Given the description of an element on the screen output the (x, y) to click on. 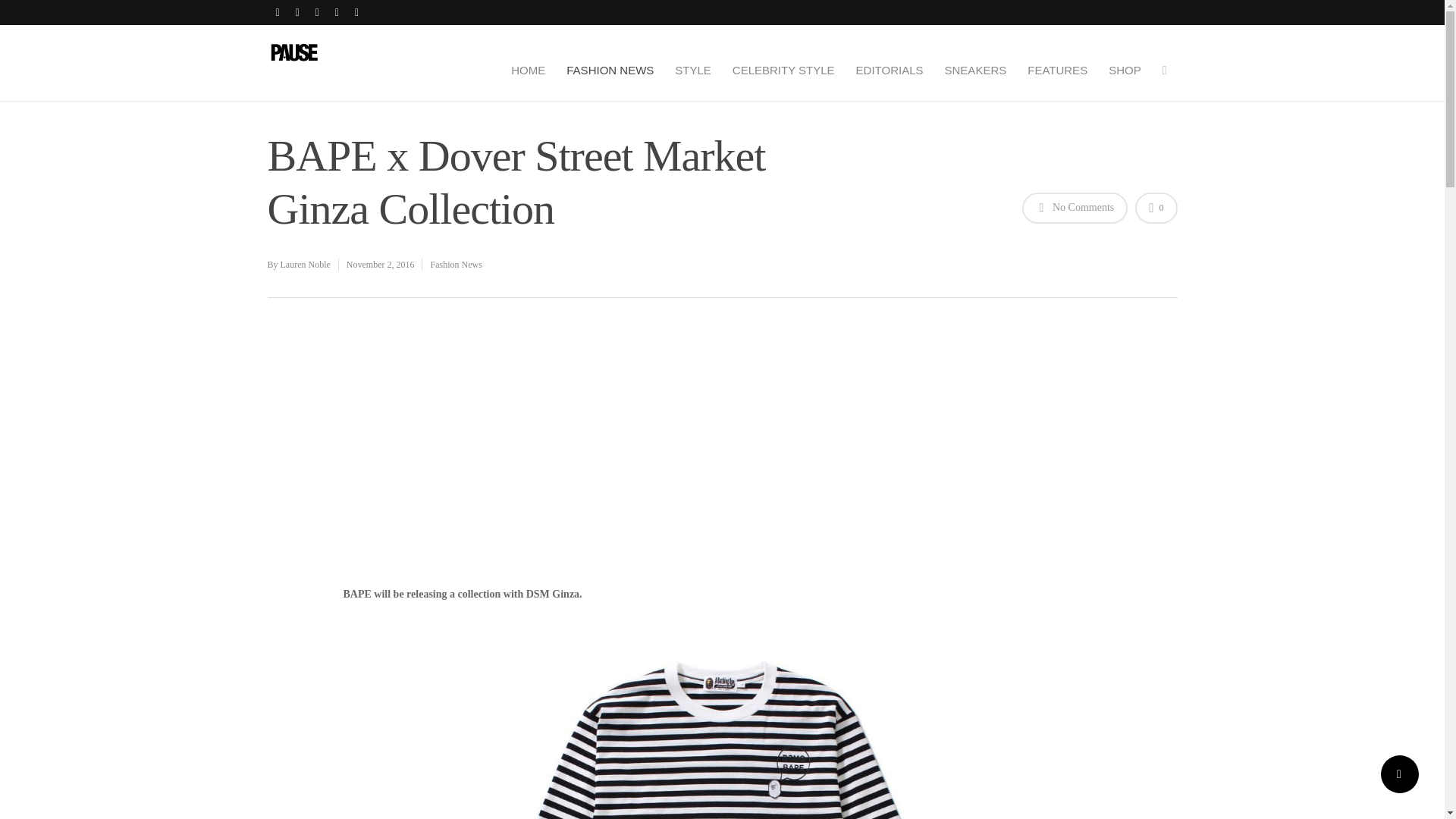
Posts by Lauren Noble (305, 264)
Advertisement (519, 534)
HOME (528, 69)
STYLE (692, 69)
Love this (1155, 207)
FASHION NEWS (609, 69)
